Given the description of an element on the screen output the (x, y) to click on. 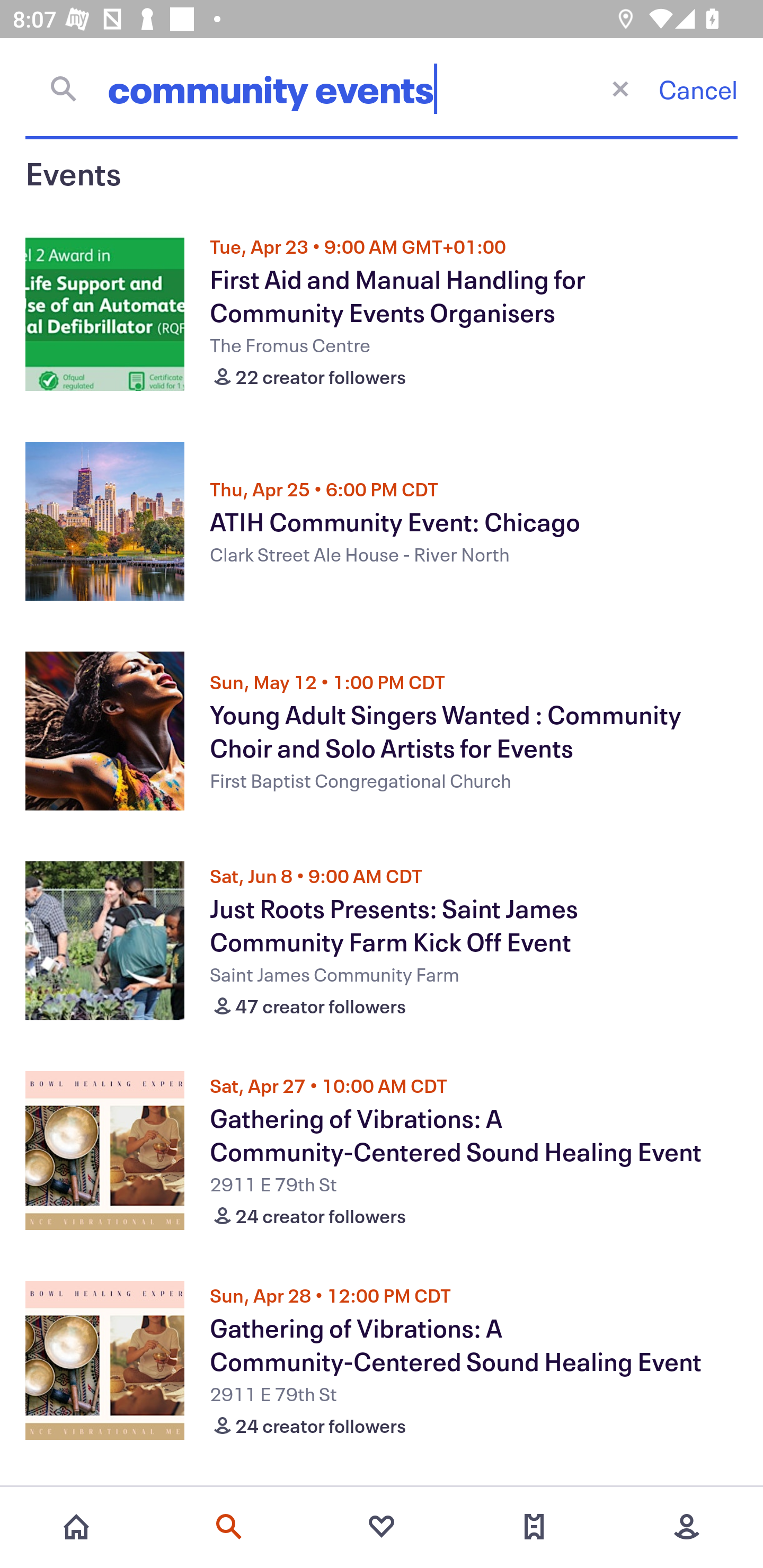
community events Close current screen Cancel (381, 88)
Close current screen (620, 88)
Cancel (697, 89)
Home (76, 1526)
Search events (228, 1526)
Favorites (381, 1526)
Tickets (533, 1526)
More (686, 1526)
